Given the description of an element on the screen output the (x, y) to click on. 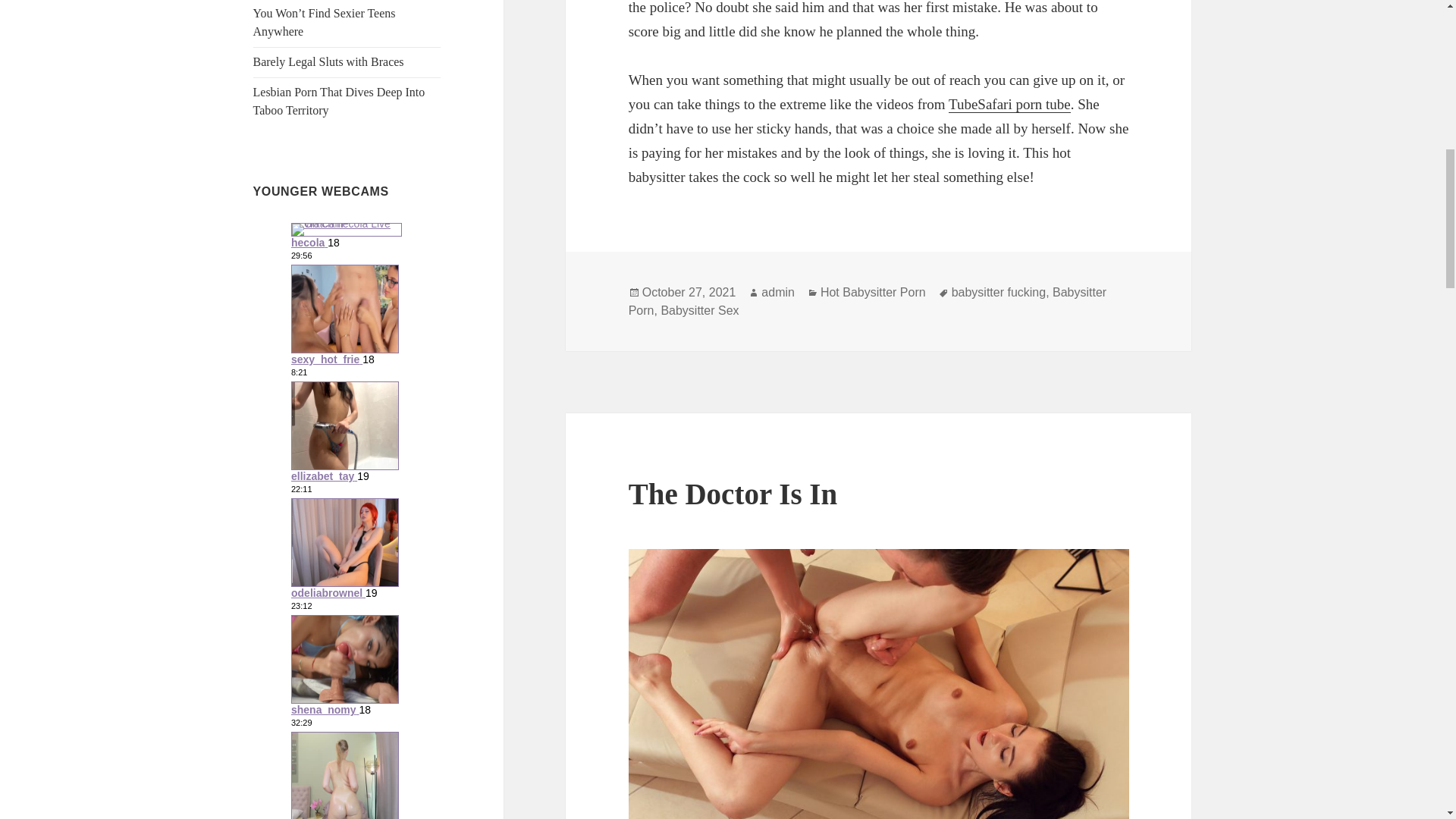
Lesbian Porn That Dives Deep Into Taboo Territory (339, 101)
Barely Legal Sluts with Braces (328, 61)
TubeSafari porn tube (1009, 104)
